Given the description of an element on the screen output the (x, y) to click on. 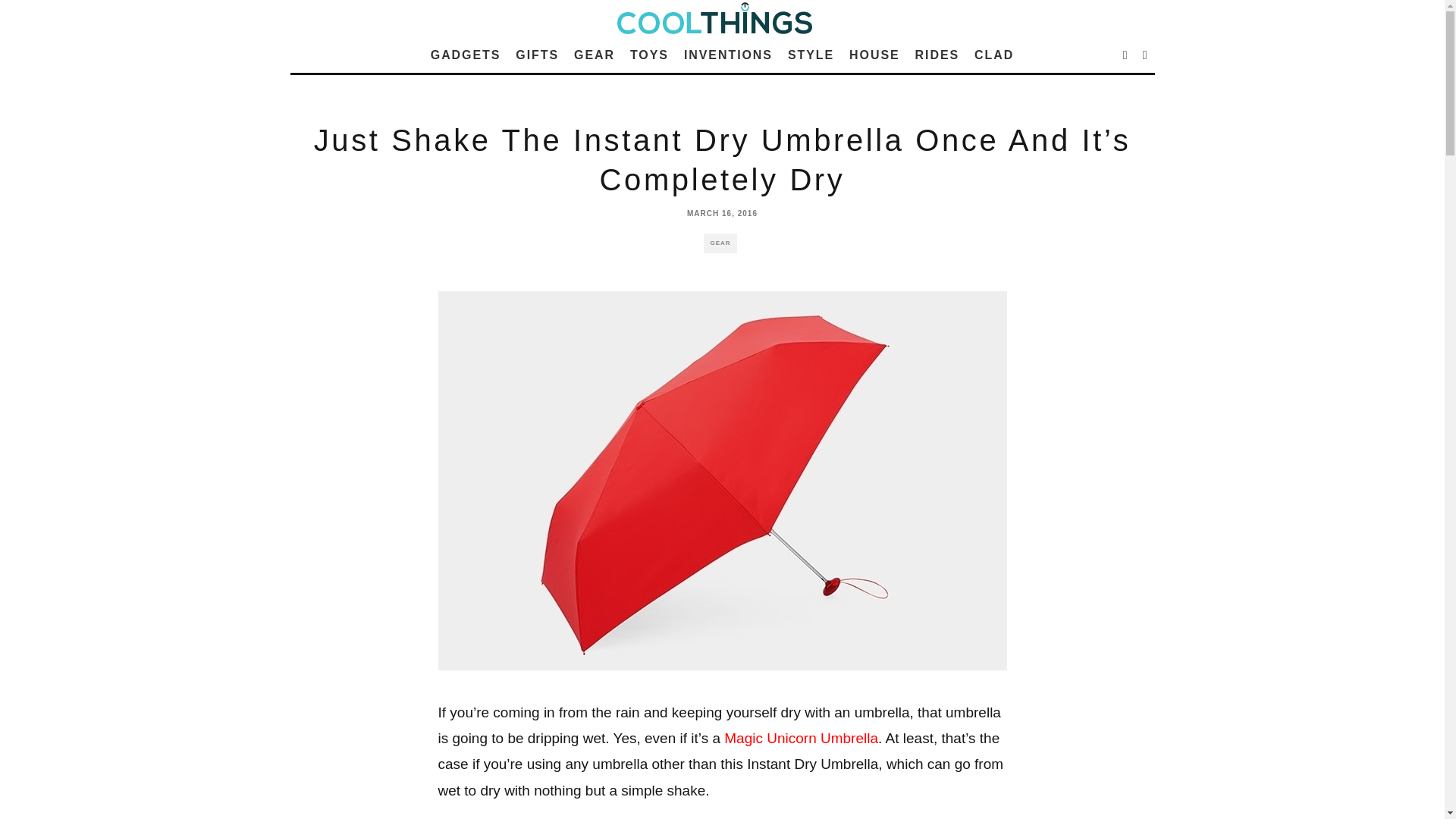
INVENTIONS (728, 54)
GIFTS (537, 54)
STYLE (810, 54)
GEAR (594, 54)
TOYS (650, 54)
GADGETS (465, 54)
